Given the description of an element on the screen output the (x, y) to click on. 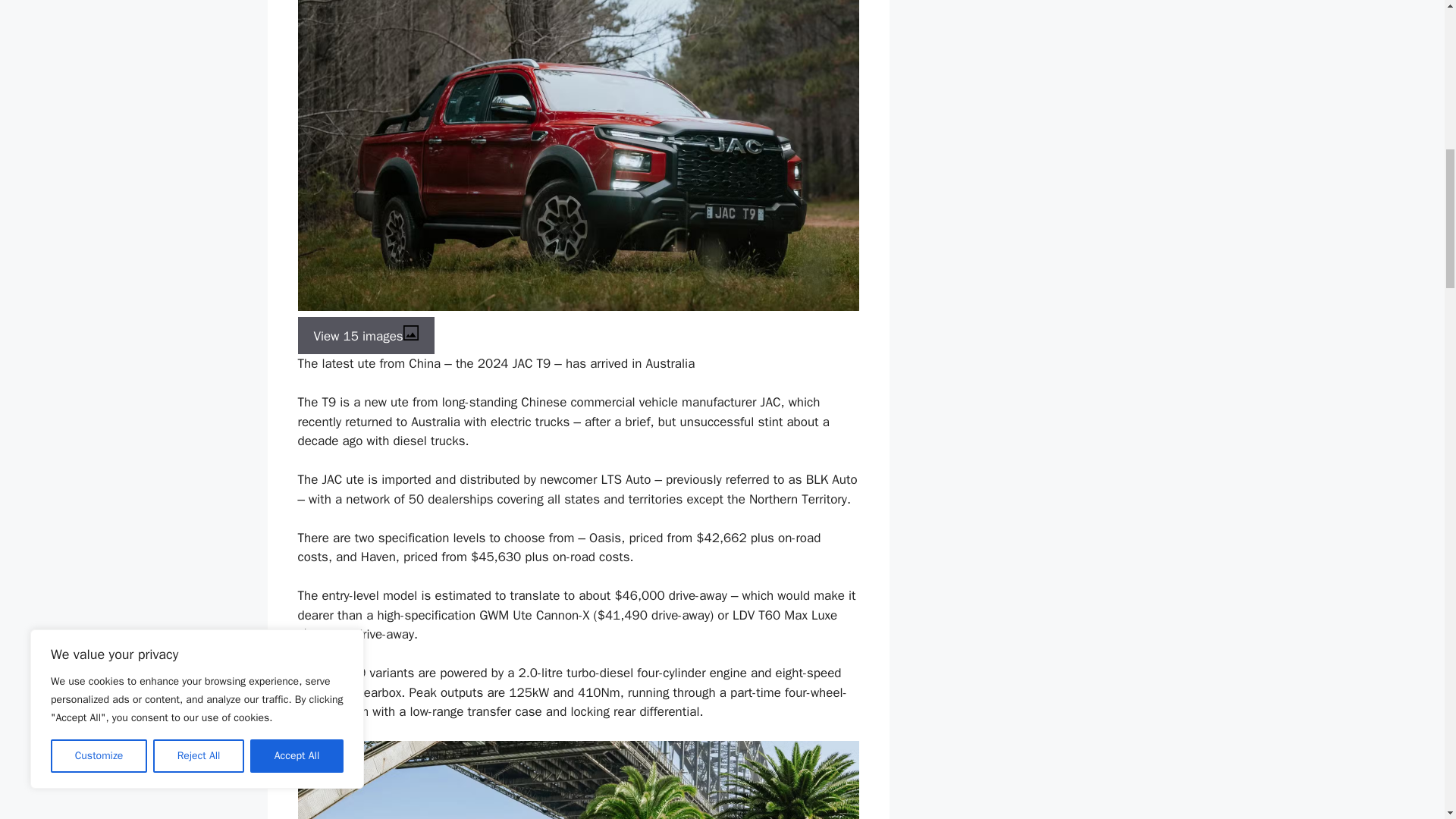
Scroll back to top (1406, 720)
